Given the description of an element on the screen output the (x, y) to click on. 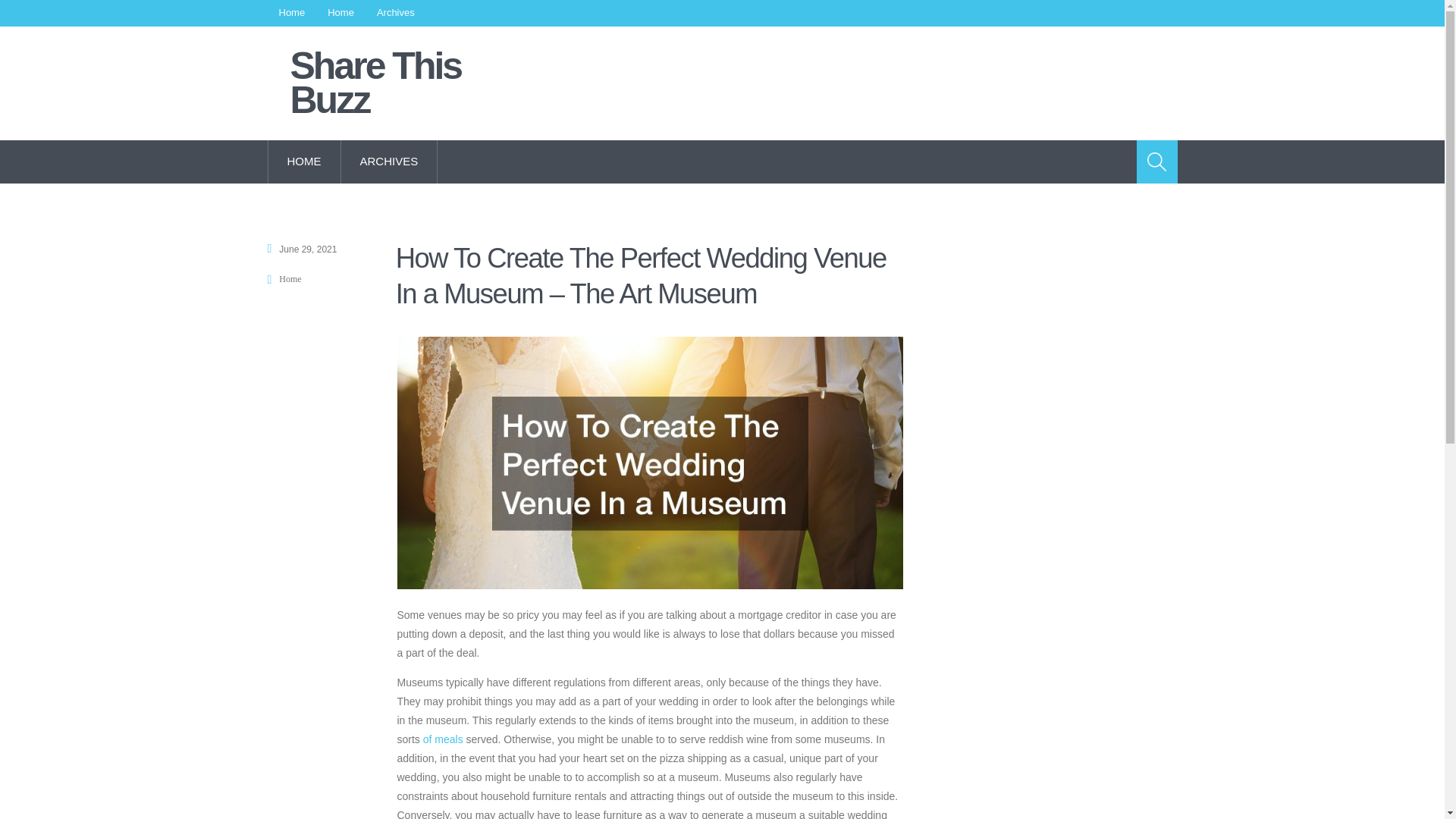
of meals (443, 739)
ARCHIVES (389, 161)
Home (340, 13)
Home (290, 278)
Share This Buzz (386, 83)
Home (290, 13)
Archives (395, 13)
HOME (303, 161)
